Given the description of an element on the screen output the (x, y) to click on. 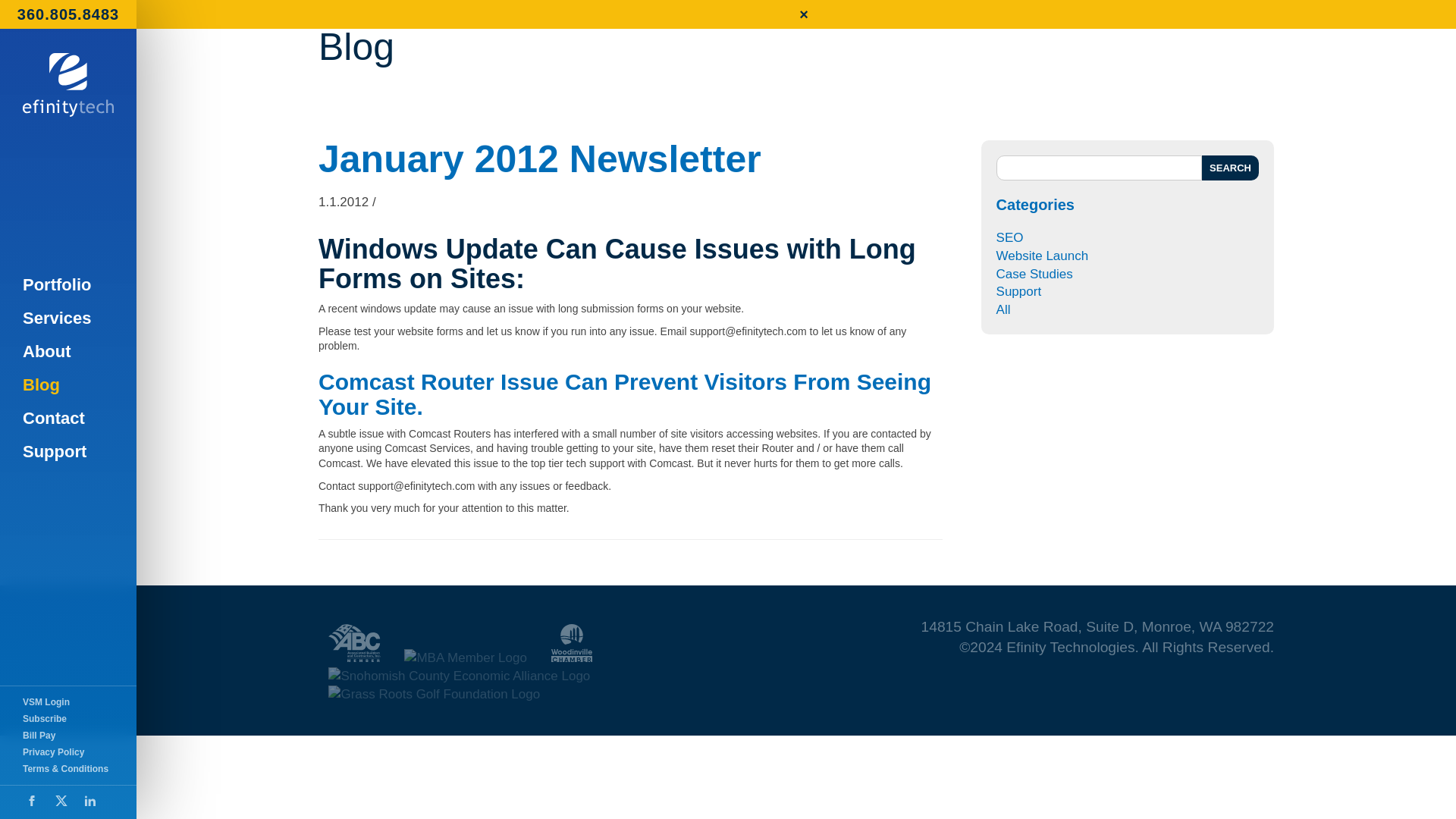
Portfolio (68, 285)
360.805.8483 (68, 14)
Search (1230, 167)
About (68, 351)
Services (68, 318)
